Given the description of an element on the screen output the (x, y) to click on. 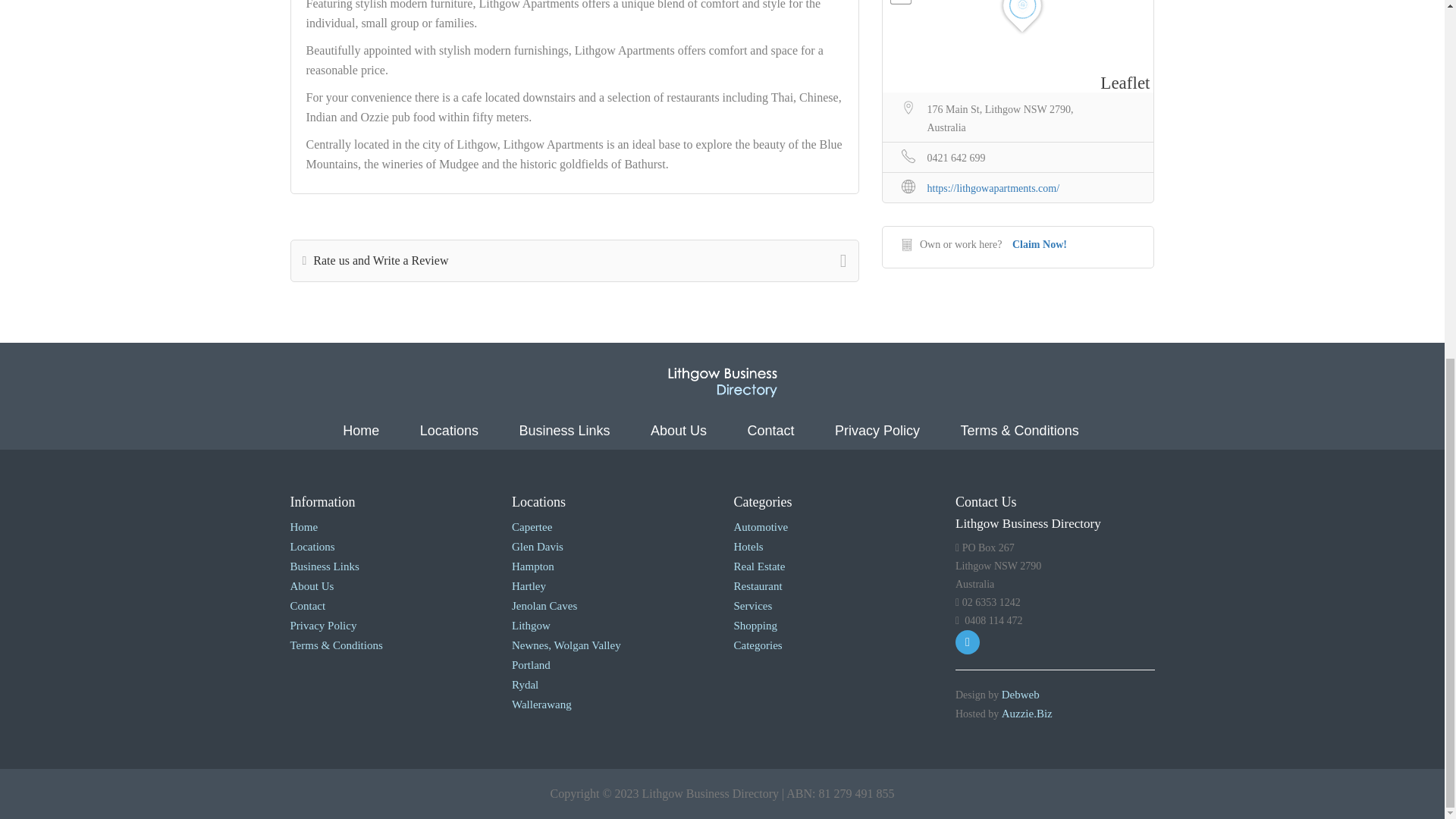
A JS library for interactive maps (1125, 82)
Zoom out (899, 2)
